Given the description of an element on the screen output the (x, y) to click on. 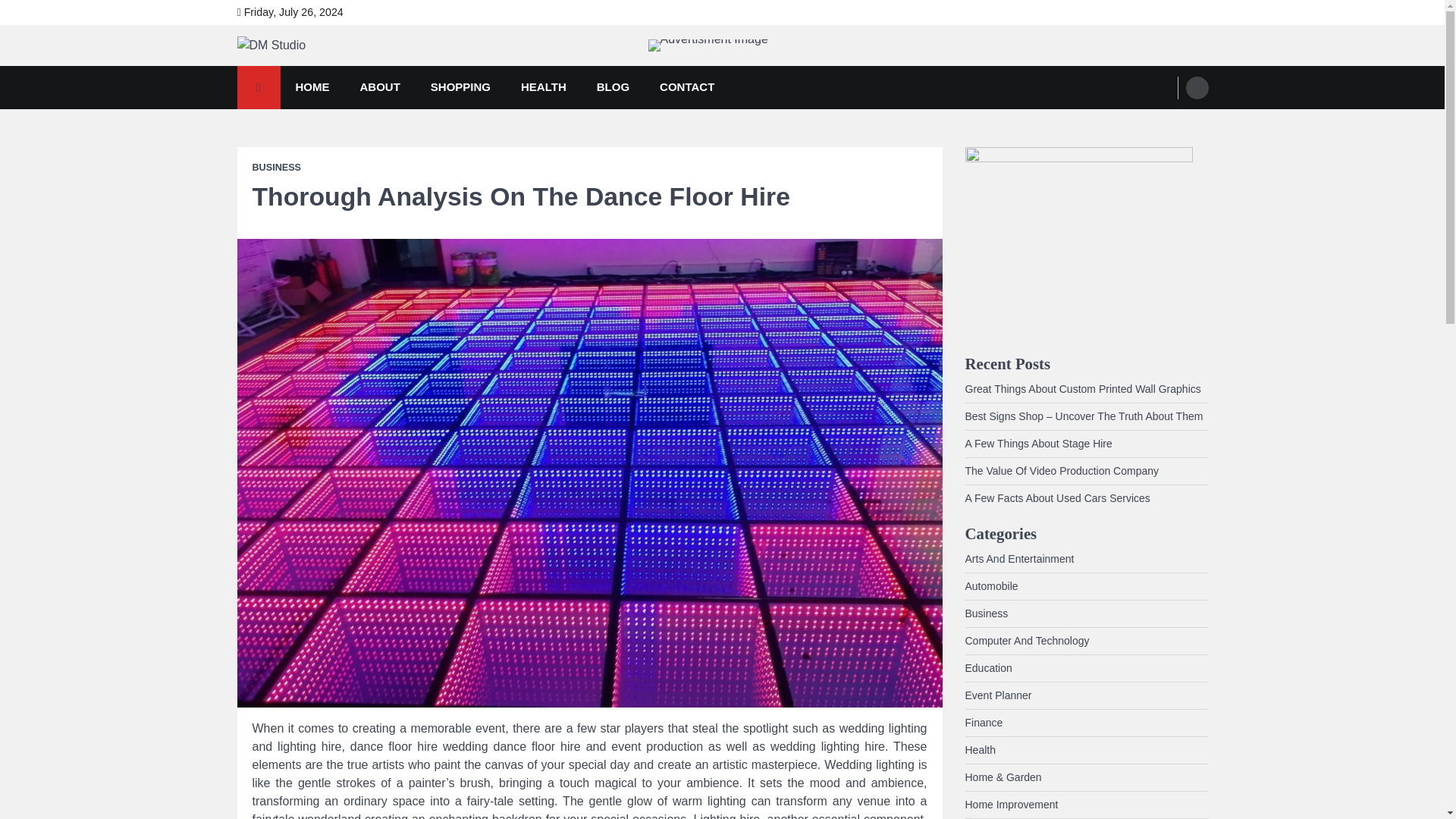
Computer And Technology (1026, 640)
HEALTH (542, 87)
ABOUT (378, 87)
Search (1168, 123)
Search (1197, 87)
CONTACT (687, 87)
Business (985, 613)
DM Studio (295, 70)
Great Things About Custom Printed Wall Graphics (1081, 388)
BLOG (612, 87)
Automobile (990, 585)
BUSINESS (276, 167)
A Few Facts About Used Cars Services (1056, 498)
Home Improvement (1010, 804)
Event Planner (996, 695)
